Given the description of an element on the screen output the (x, y) to click on. 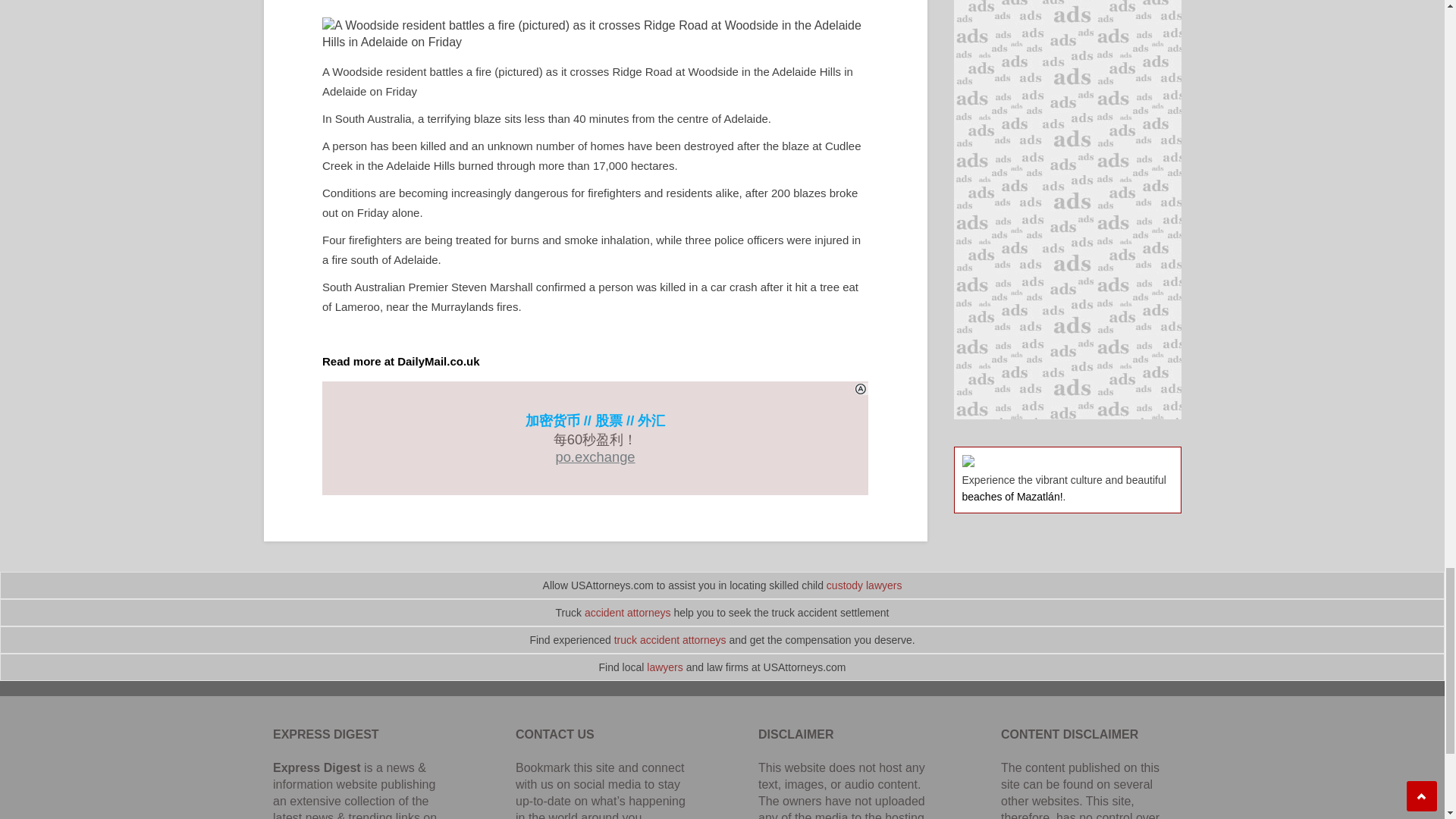
accident attorneys (628, 612)
truck accident attorneys (670, 639)
custody lawyers (864, 585)
Read more at DailyMail.co.uk (400, 360)
lawyers (664, 666)
